Given the description of an element on the screen output the (x, y) to click on. 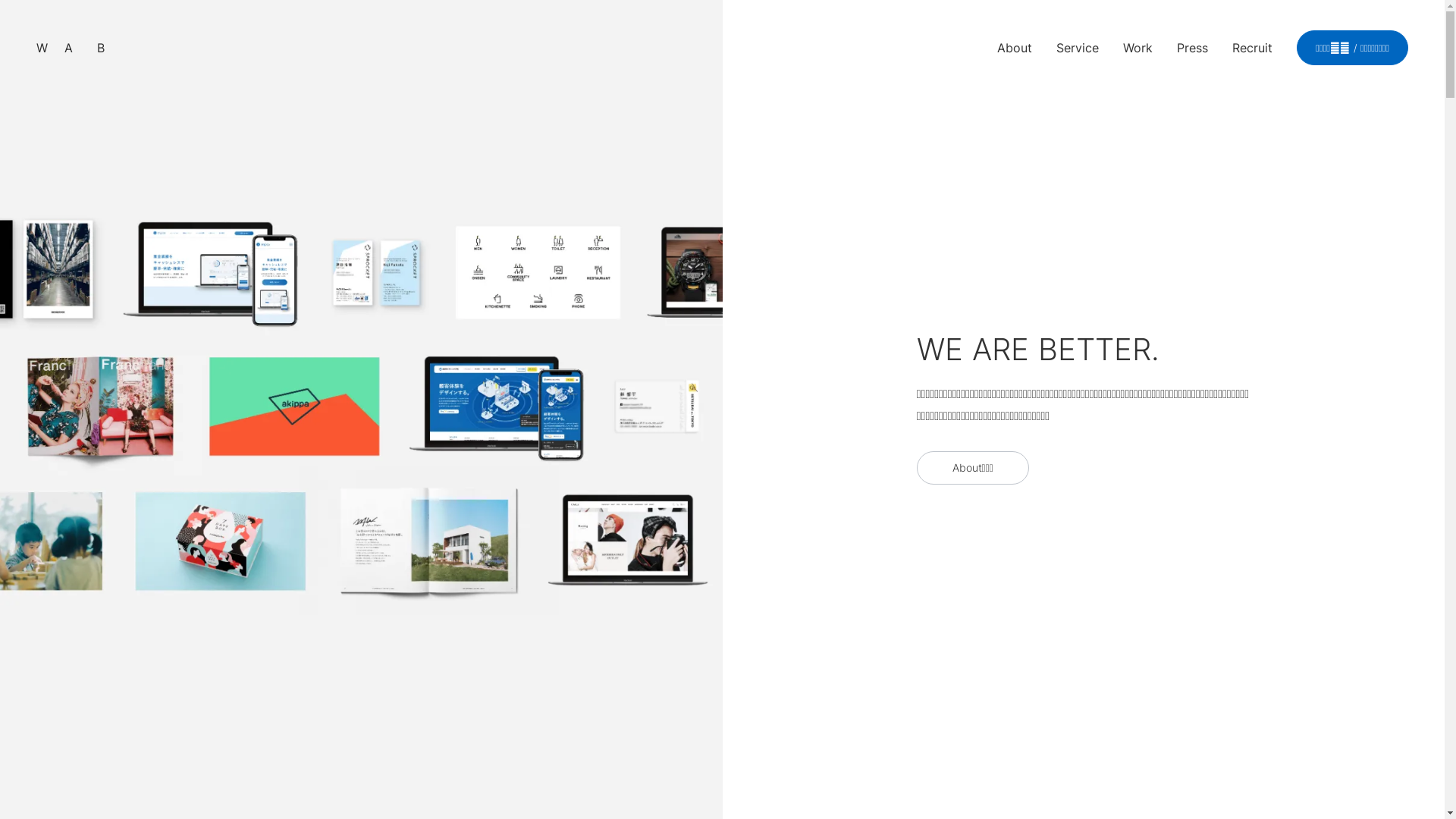
Press Element type: text (1192, 47)
Service Element type: text (1077, 47)
Work Element type: text (1137, 47)
W
E  
A
RE  
B
ETTER Element type: text (107, 47)
Recruit Element type: text (1252, 47)
About Element type: text (1014, 47)
